Given the description of an element on the screen output the (x, y) to click on. 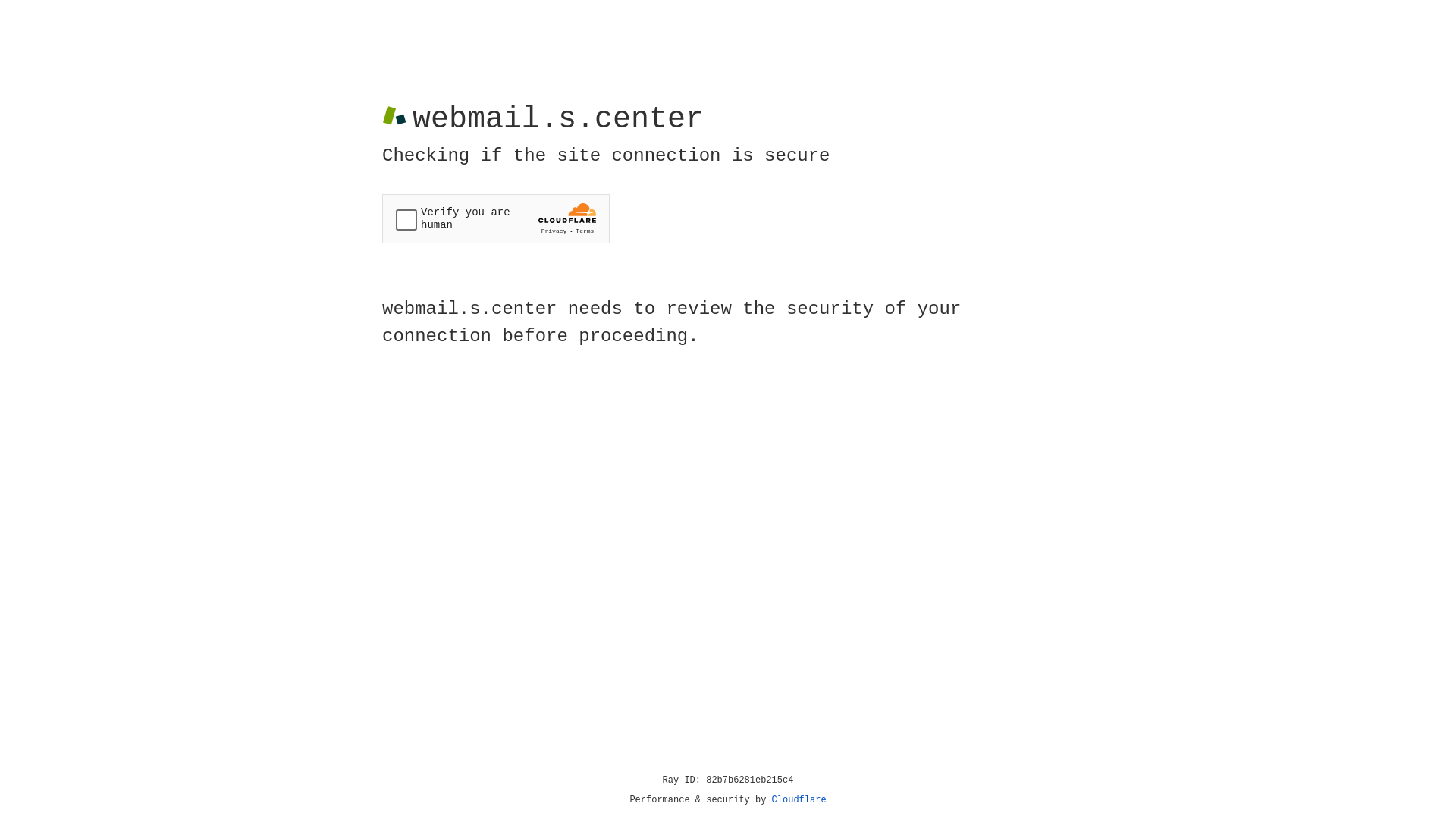
Cloudflare Element type: text (798, 799)
Widget containing a Cloudflare security challenge Element type: hover (495, 218)
